Given the description of an element on the screen output the (x, y) to click on. 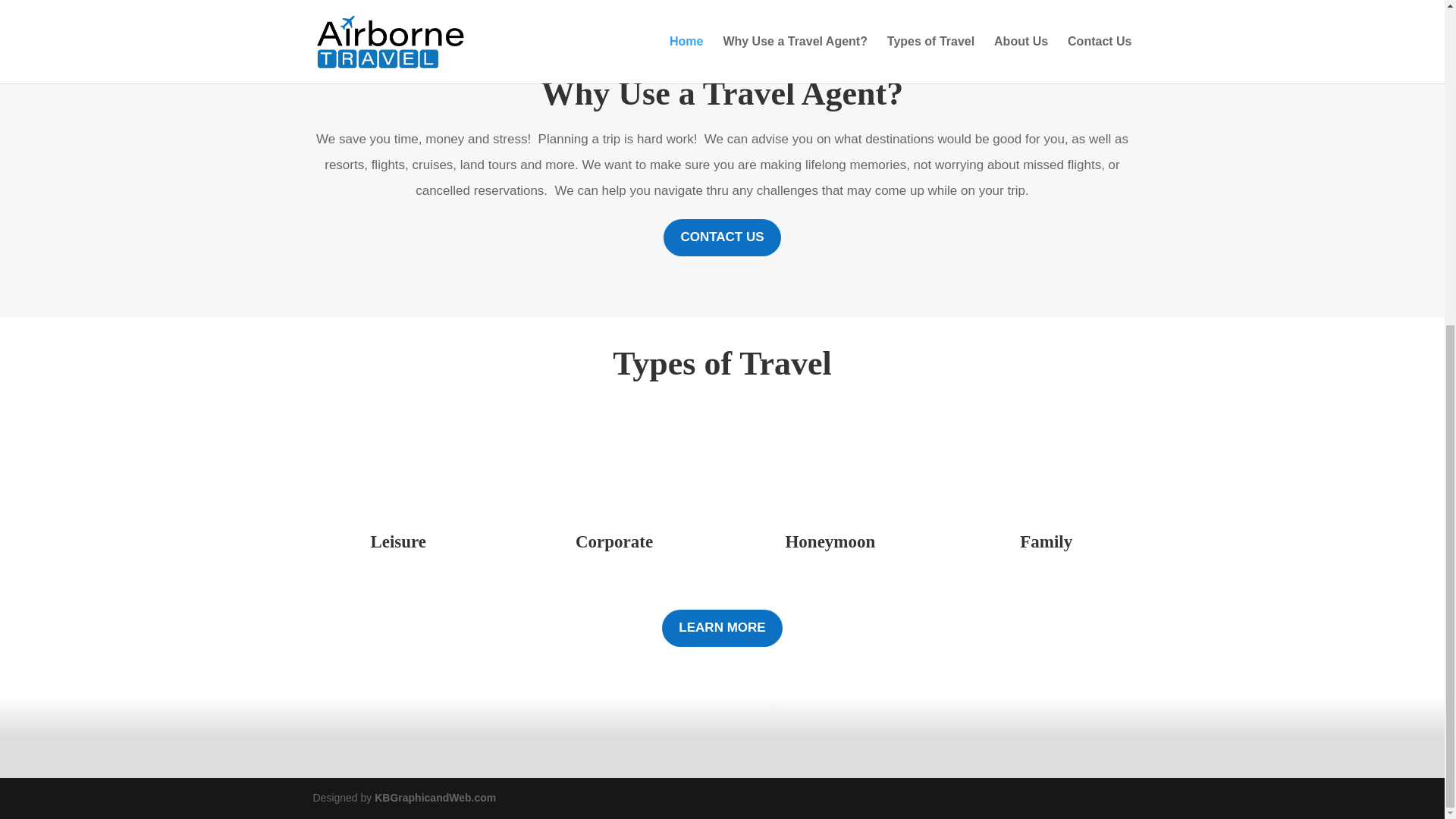
CONTACT US (721, 237)
KBGraphicandWeb.com (435, 797)
LEARN MORE (721, 628)
